Given the description of an element on the screen output the (x, y) to click on. 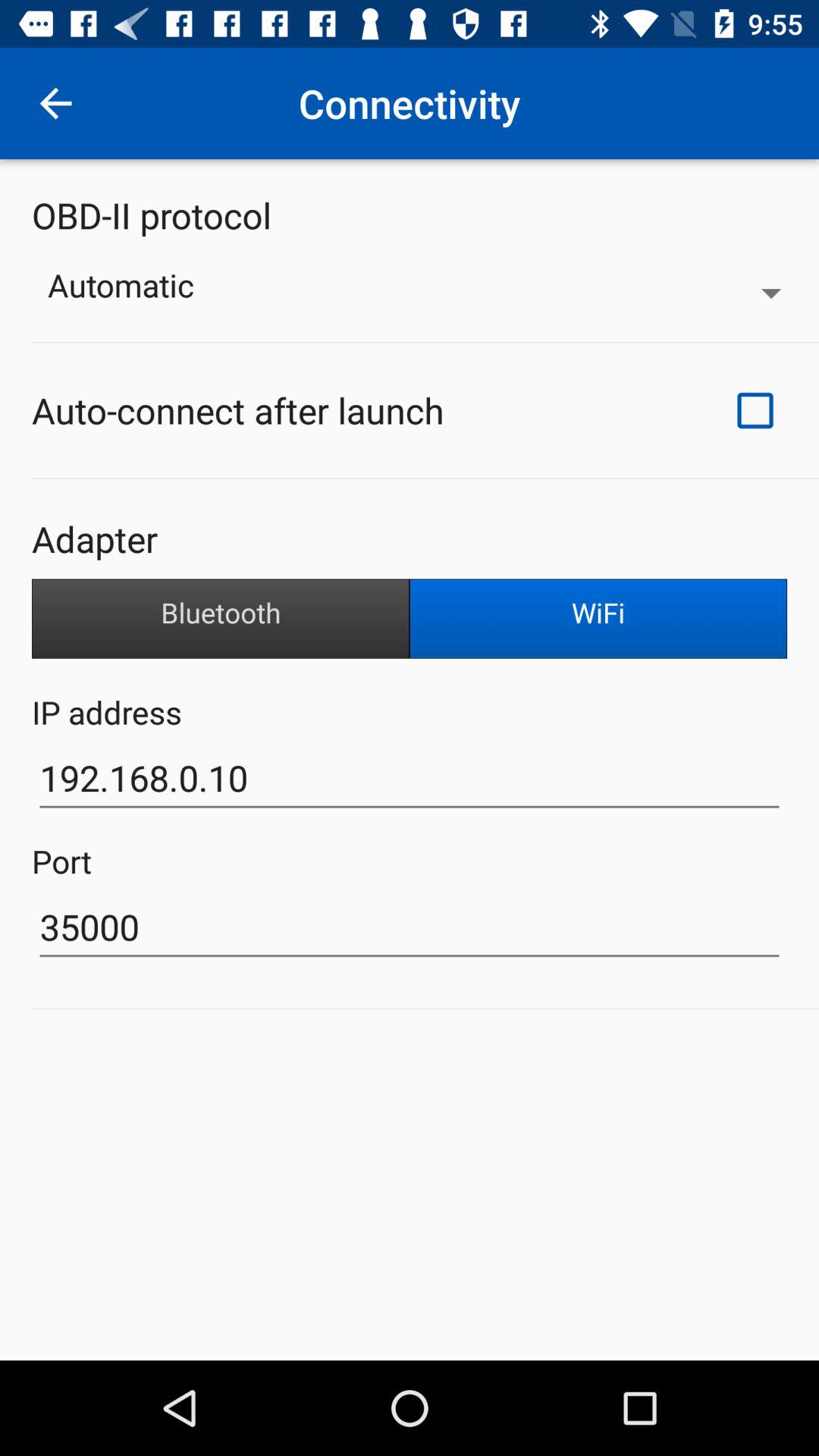
tap item to the left of connectivity (55, 103)
